Given the description of an element on the screen output the (x, y) to click on. 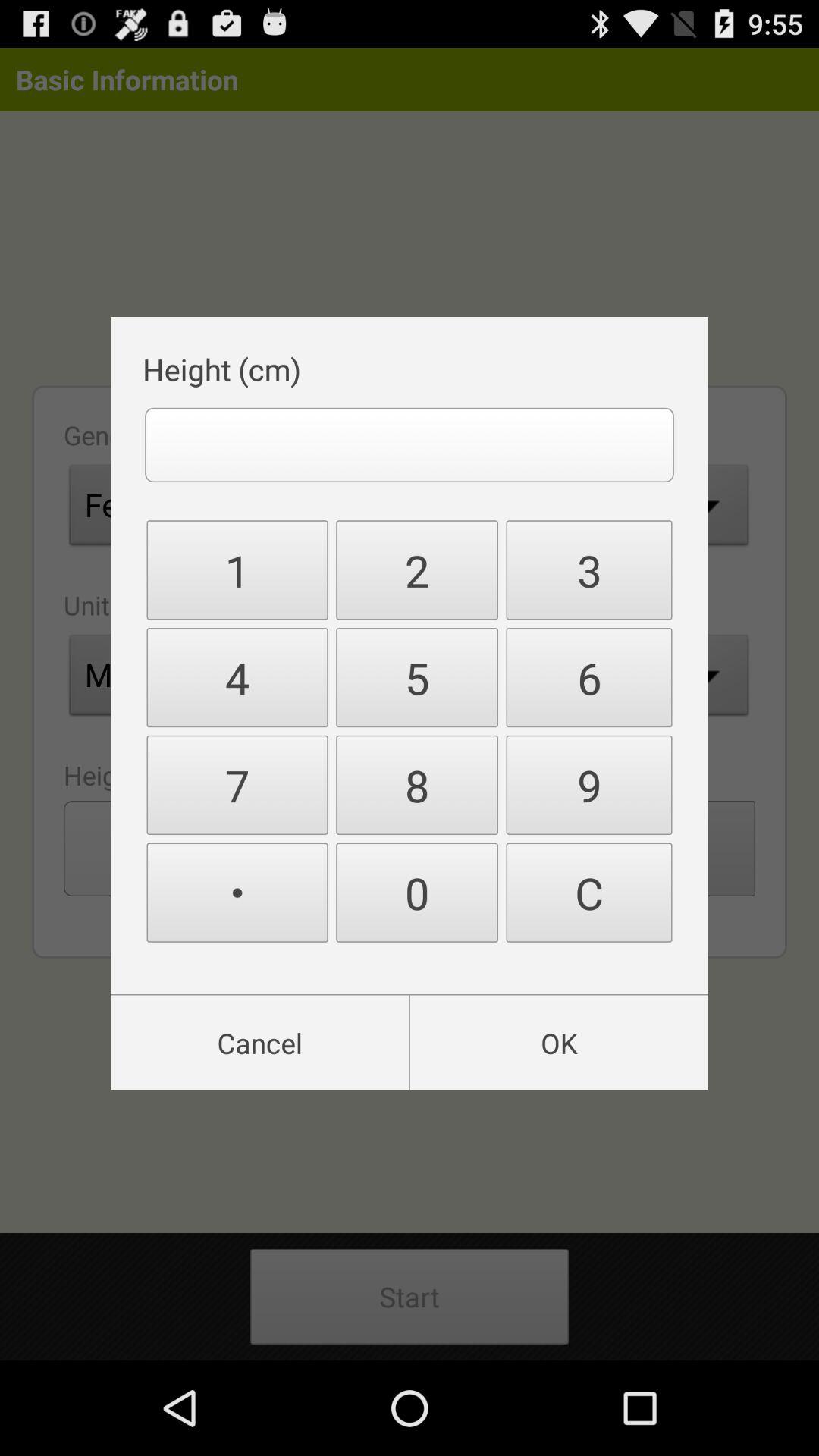
launch the button next to 4 button (417, 784)
